Given the description of an element on the screen output the (x, y) to click on. 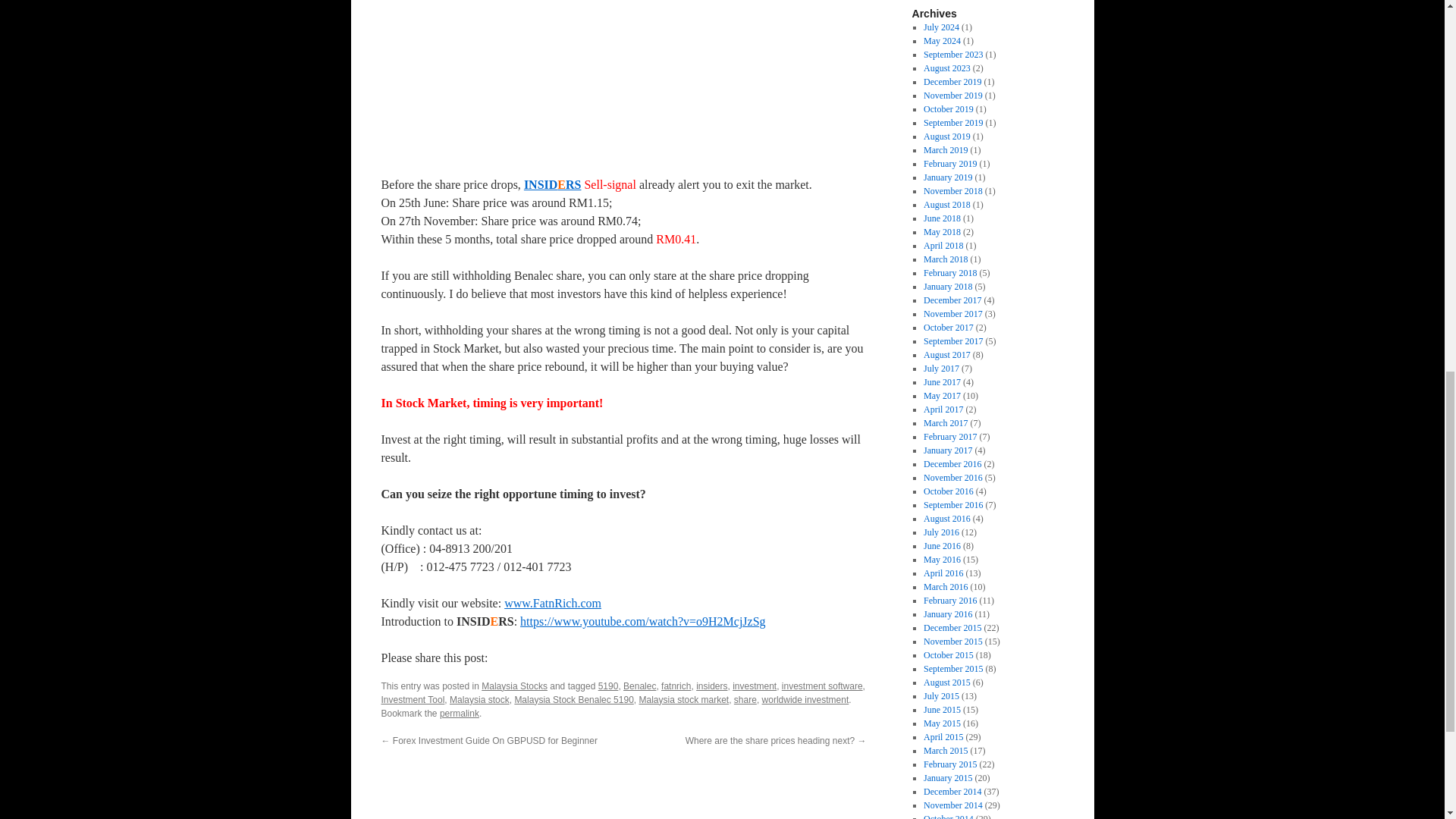
insiders (710, 685)
investment (754, 685)
Malaysia Stock Benalec 5190 (623, 83)
Malaysia stock market (684, 699)
Malaysia Stocks (514, 685)
worldwide investment (804, 699)
fatnrich (675, 685)
Benalec (639, 685)
investment software (822, 685)
www.FatnRich.com (552, 603)
5190 (608, 685)
Investment Tool (412, 699)
permalink (459, 713)
INSIDERS (552, 184)
Permalink to Seize the stock market investment opportunity! (459, 713)
